Given the description of an element on the screen output the (x, y) to click on. 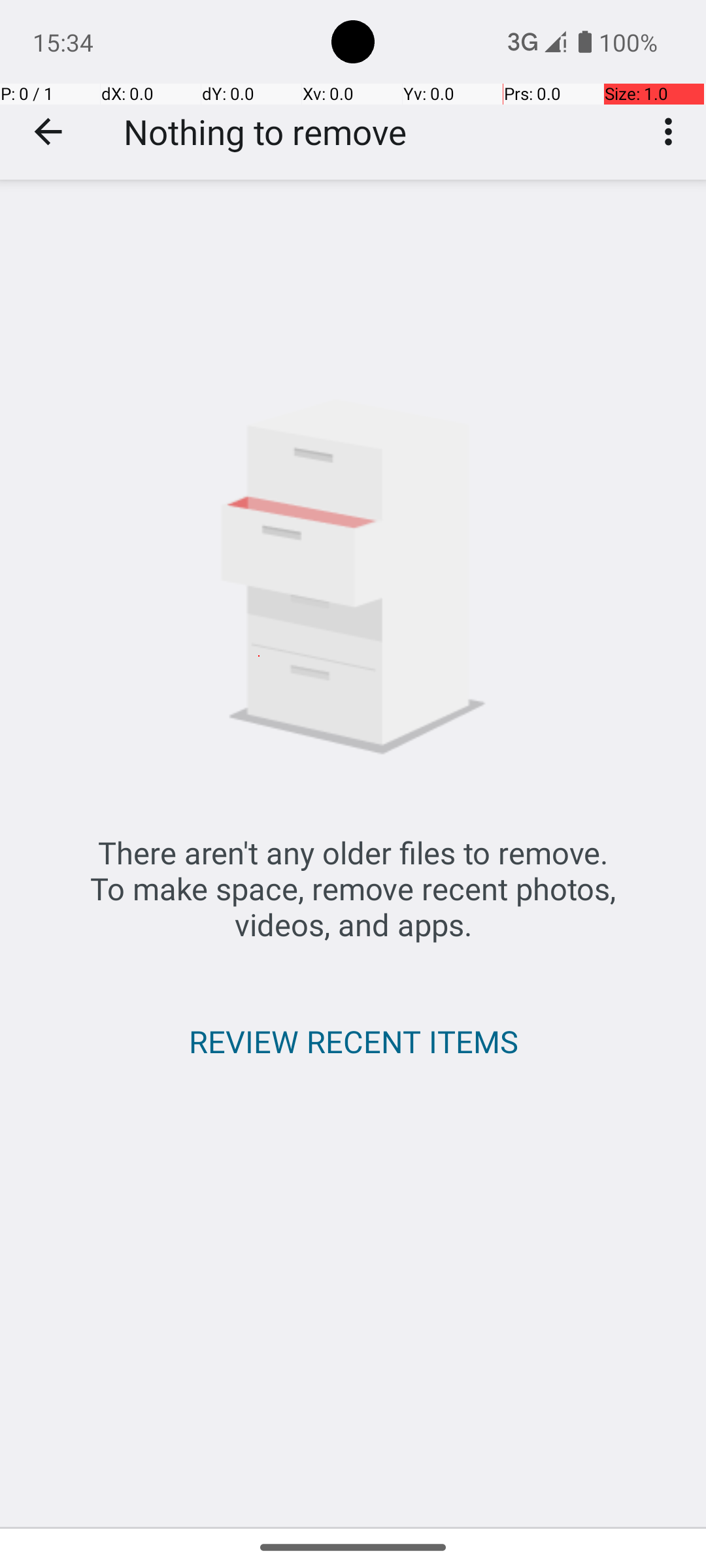
Nothing to remove Element type: android.widget.TextView (265, 131)
There aren't any older files to remove. To make space, remove recent photos, videos, and apps. Element type: android.widget.TextView (353, 887)
REVIEW RECENT ITEMS Element type: android.widget.TextView (352, 1040)
